Given the description of an element on the screen output the (x, y) to click on. 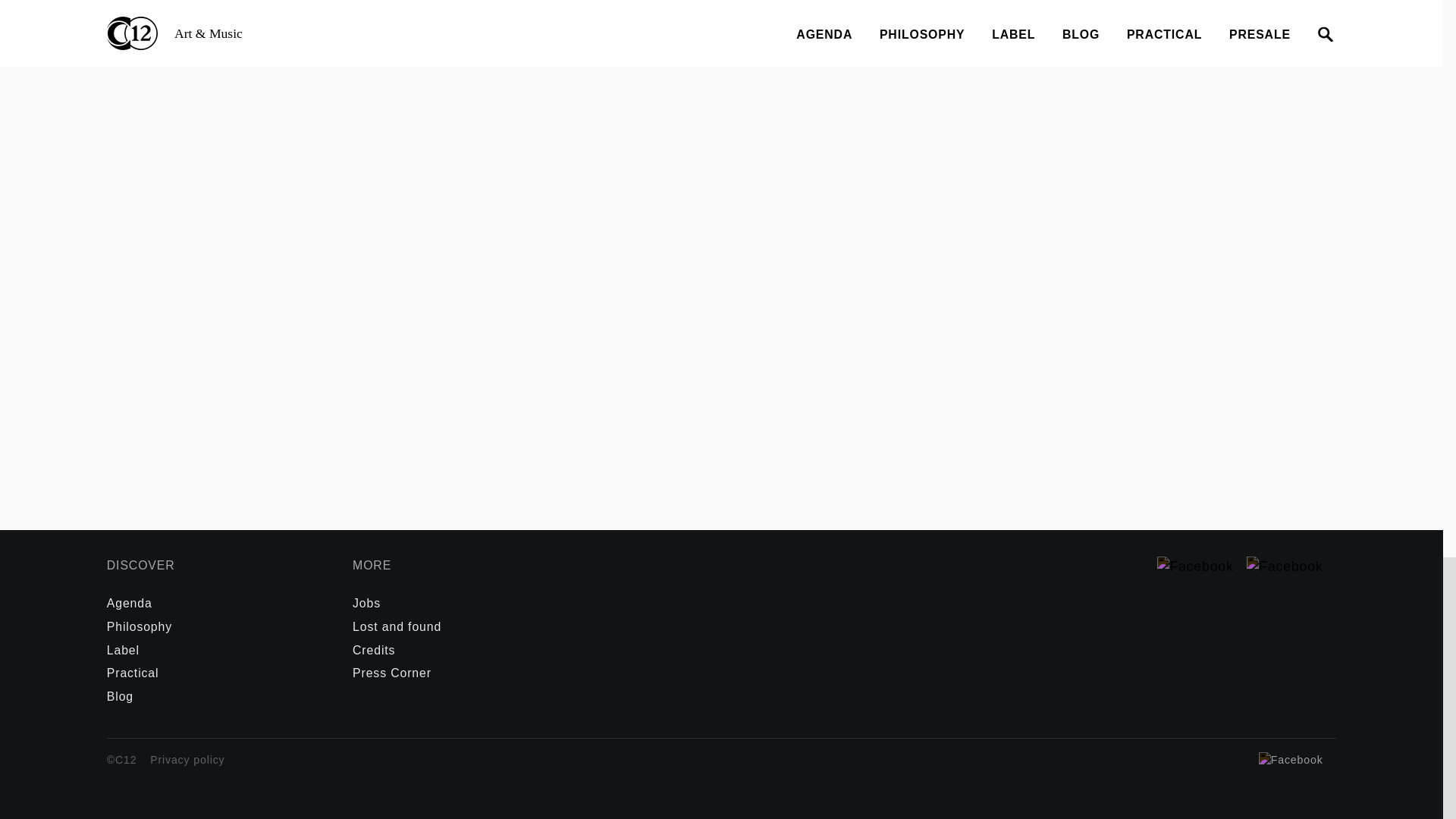
Privacy policy (186, 772)
Lost and found (396, 626)
Agenda (129, 603)
Press Corner (391, 672)
Label (122, 649)
Blog (119, 696)
Philosophy (138, 626)
Jobs (366, 603)
Practical (132, 672)
Credits (373, 649)
Crevette Records (307, 15)
